Given the description of an element on the screen output the (x, y) to click on. 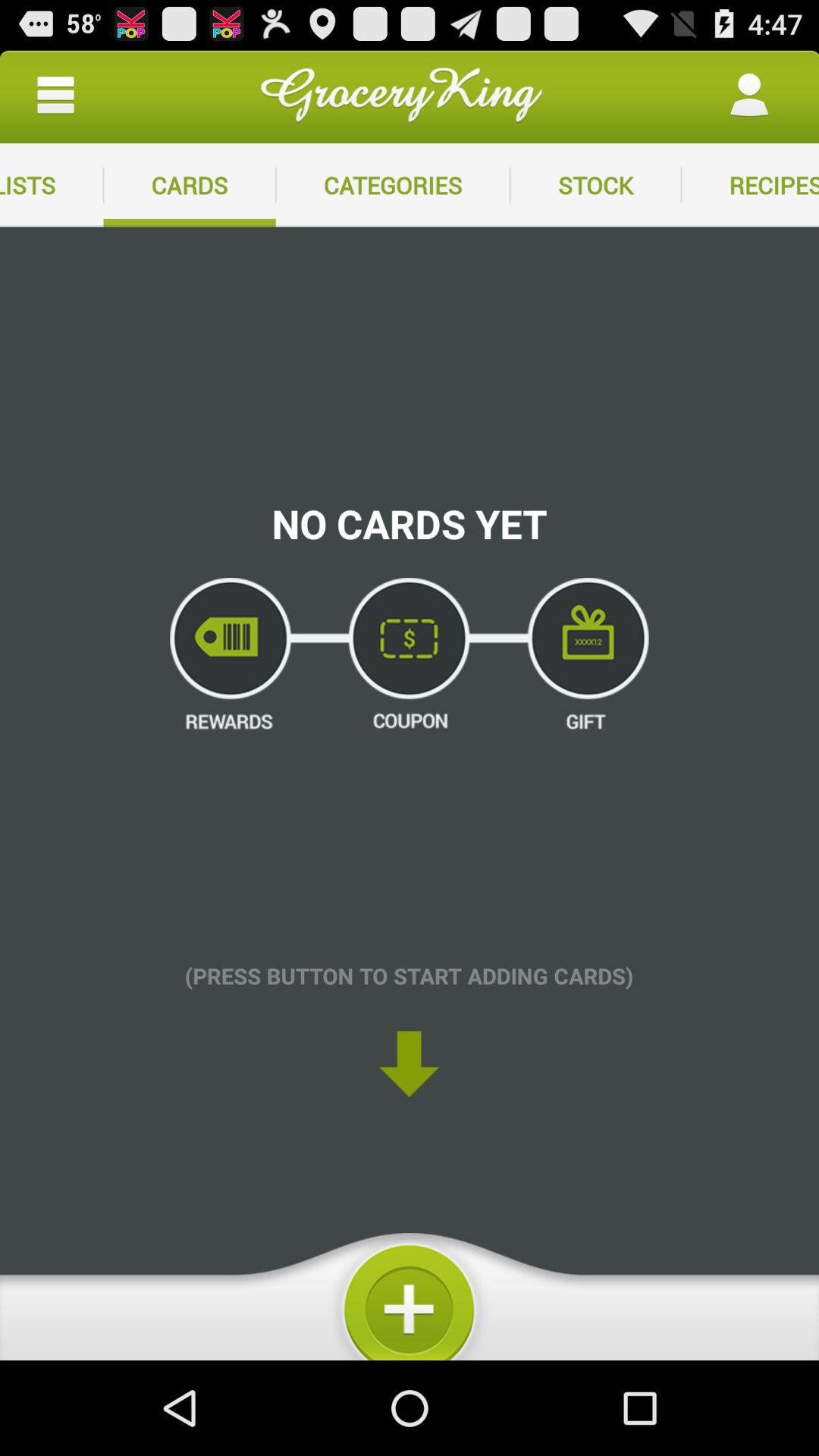
choose the item above the no cards yet icon (595, 184)
